Given the description of an element on the screen output the (x, y) to click on. 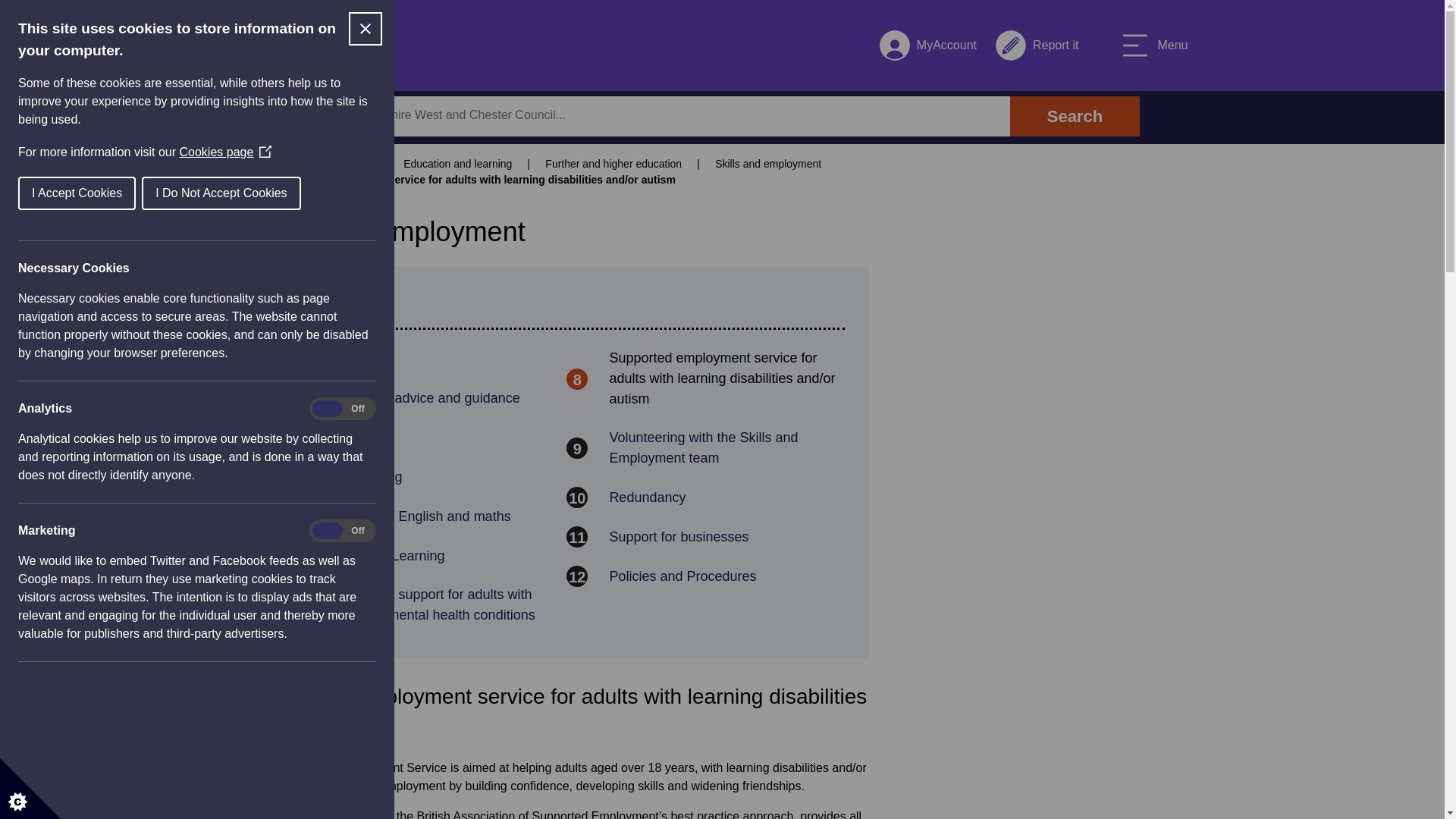
Search (415, 476)
Education and learning (657, 115)
Further and higher education (415, 358)
Cheshire West and Chester (705, 576)
Home (415, 437)
Skills and employment (457, 163)
